Given the description of an element on the screen output the (x, y) to click on. 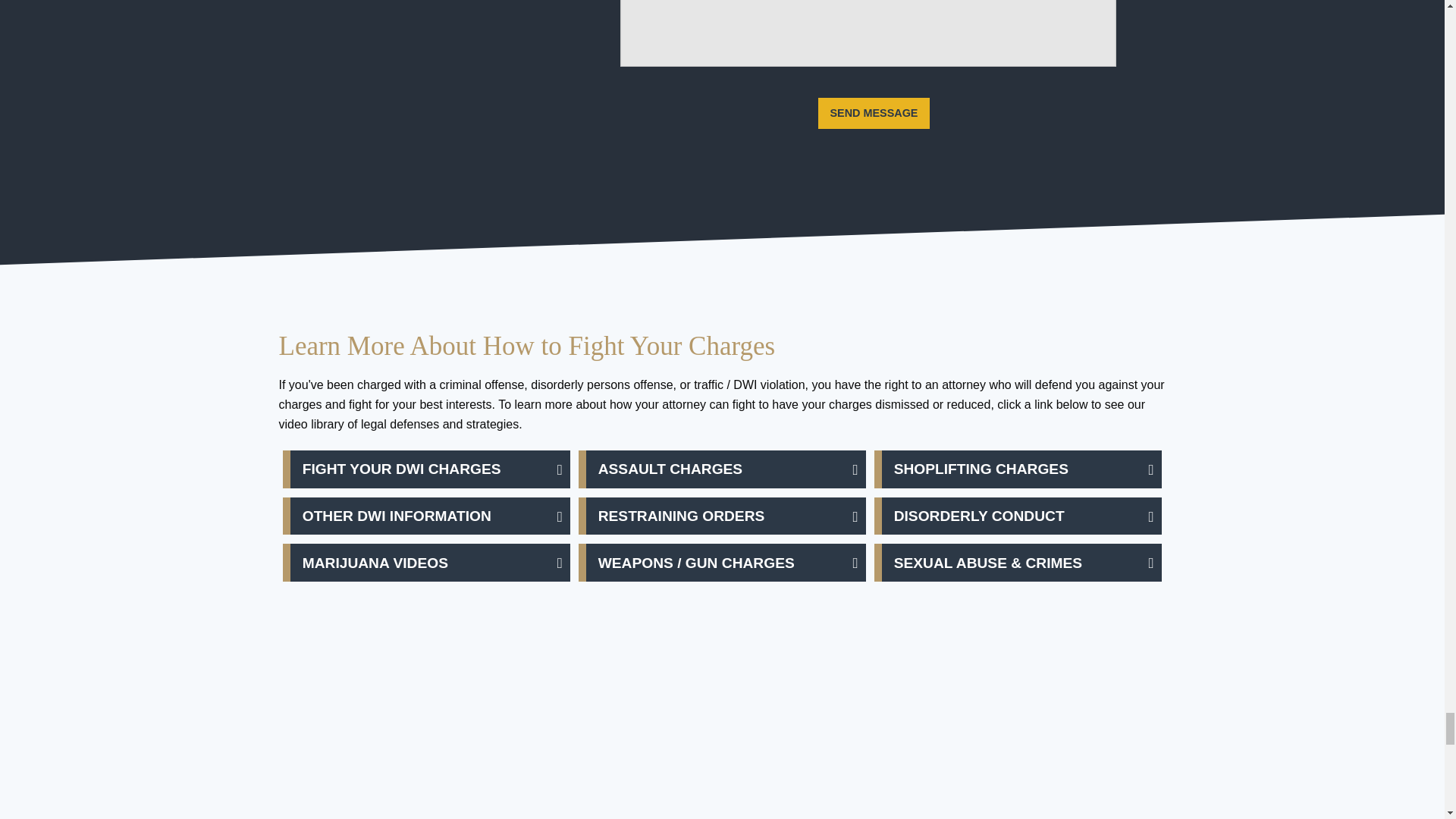
Send Message (874, 112)
